Given the description of an element on the screen output the (x, y) to click on. 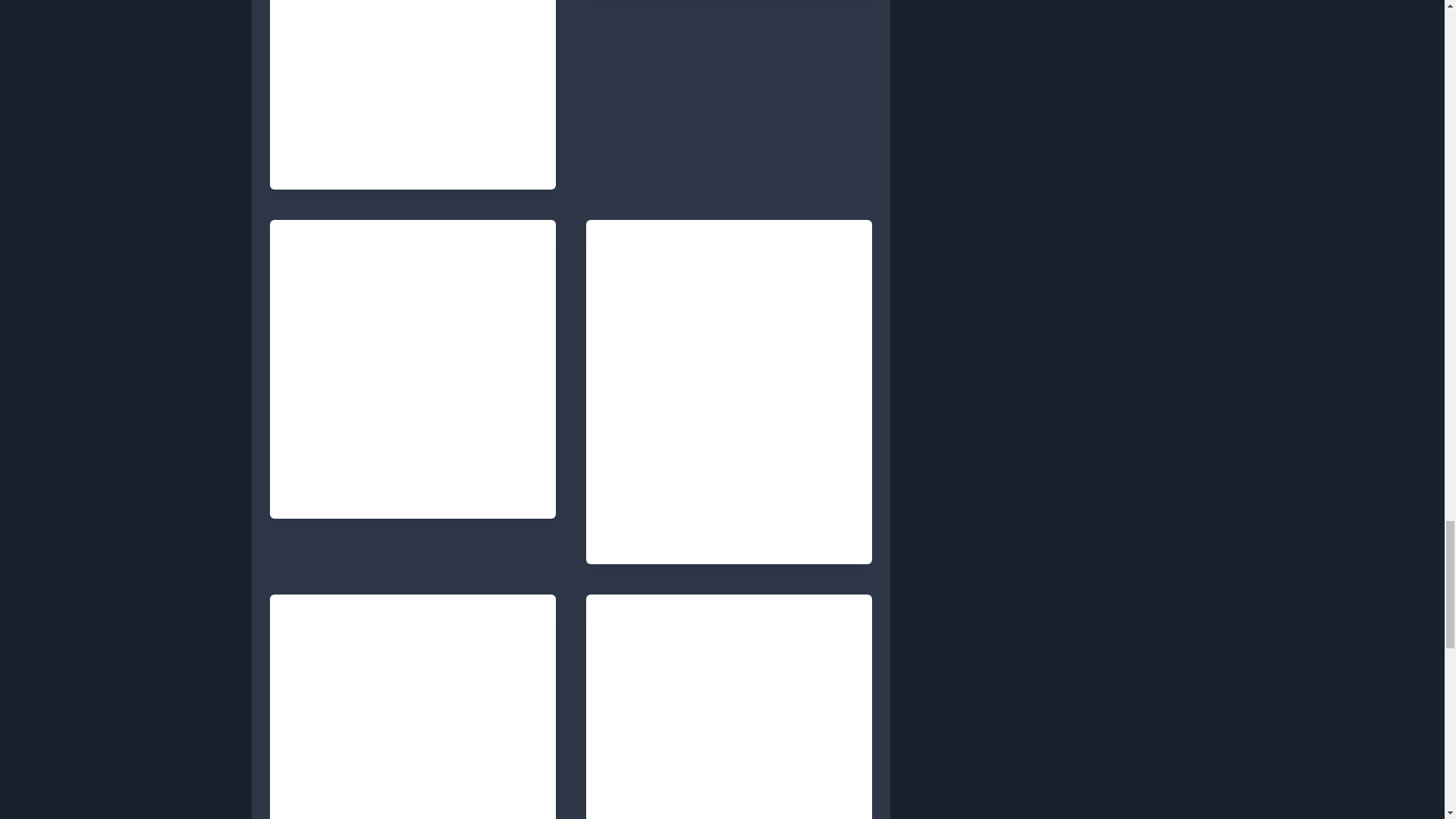
10 Ways To Use CBD For Self-Care (402, 457)
